Given the description of an element on the screen output the (x, y) to click on. 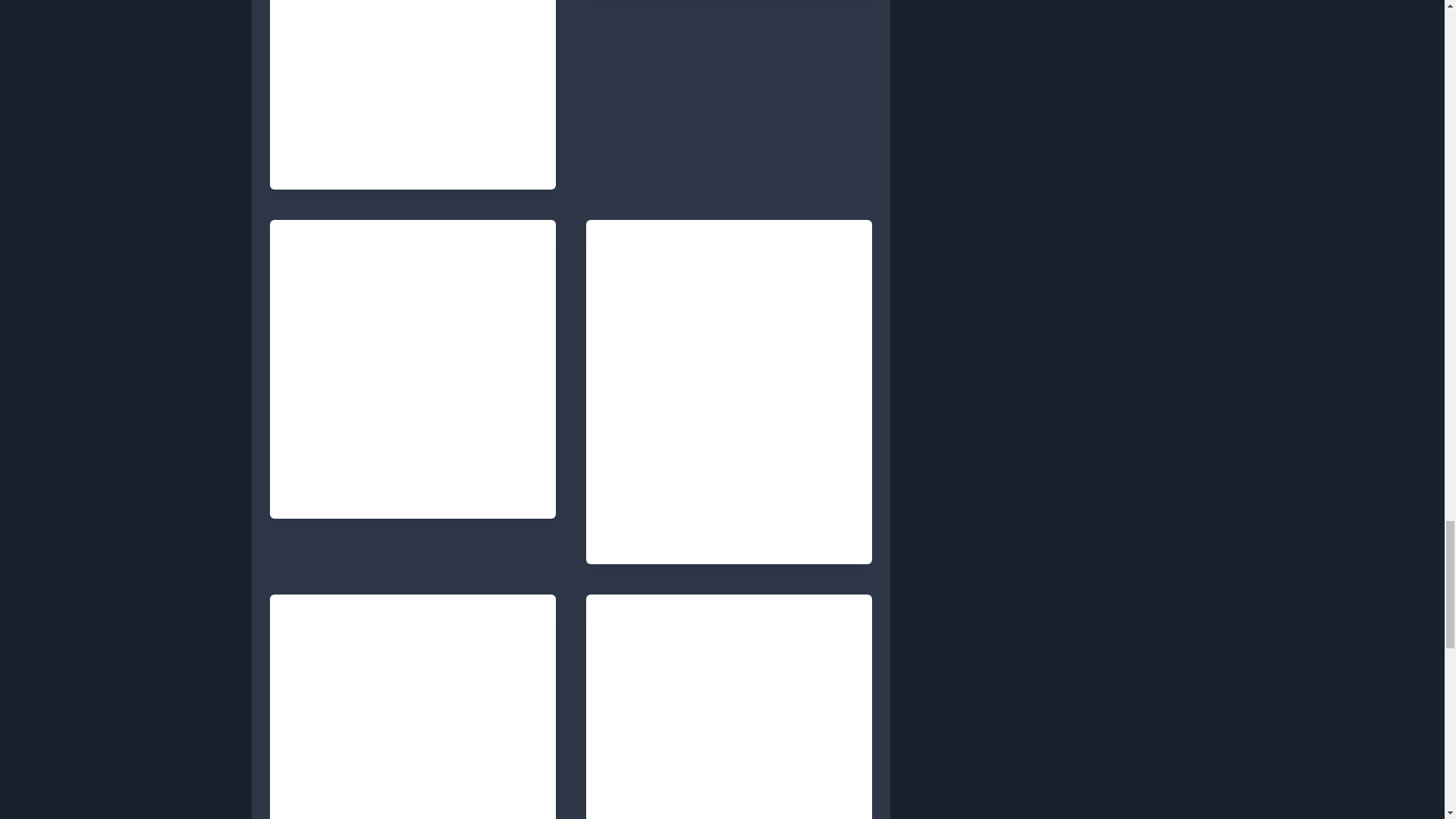
10 Ways To Use CBD For Self-Care (402, 457)
